Given the description of an element on the screen output the (x, y) to click on. 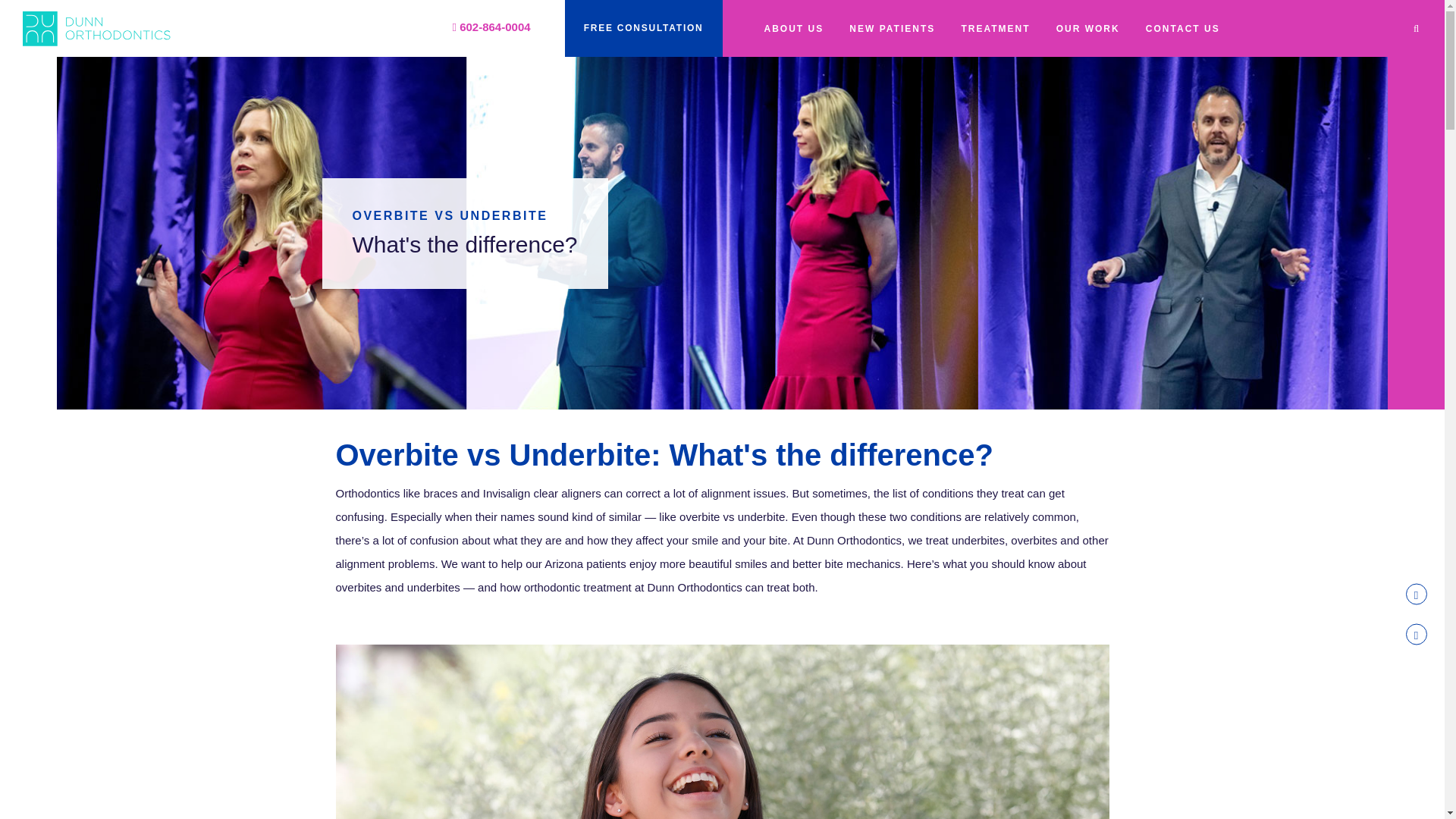
FREE CONSULTATION (643, 28)
TREATMENT (994, 28)
602-864-0004 (491, 27)
ABOUT US (794, 28)
NEW PATIENTS (891, 28)
